Given the description of an element on the screen output the (x, y) to click on. 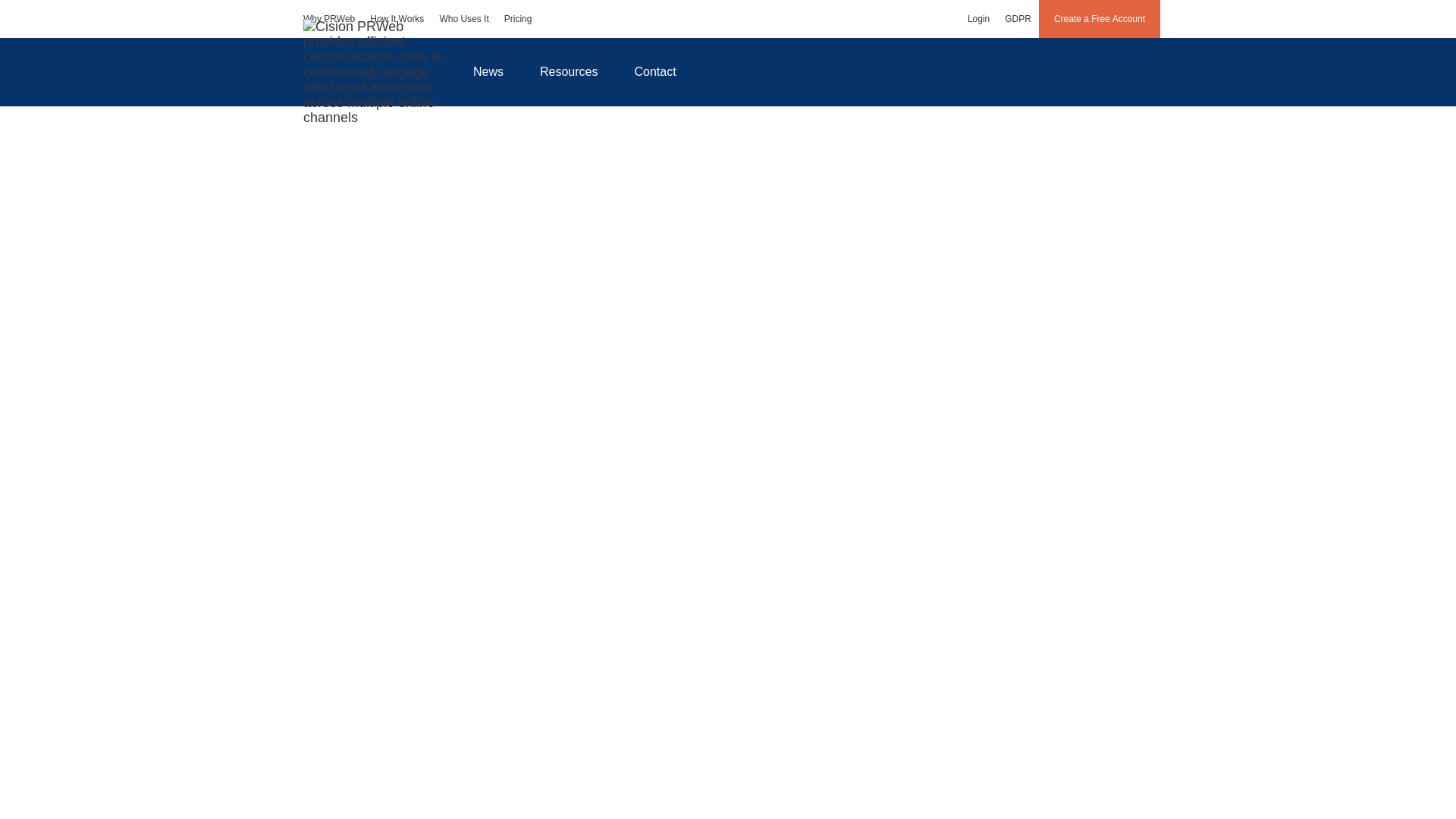
How It Works (396, 18)
Who Uses It (463, 18)
GDPR (1018, 18)
Pricing (518, 18)
Why PRWeb (328, 18)
Contact (654, 71)
Login (978, 18)
Resources (568, 71)
Create a Free Account (1099, 18)
News (487, 71)
